Given the description of an element on the screen output the (x, y) to click on. 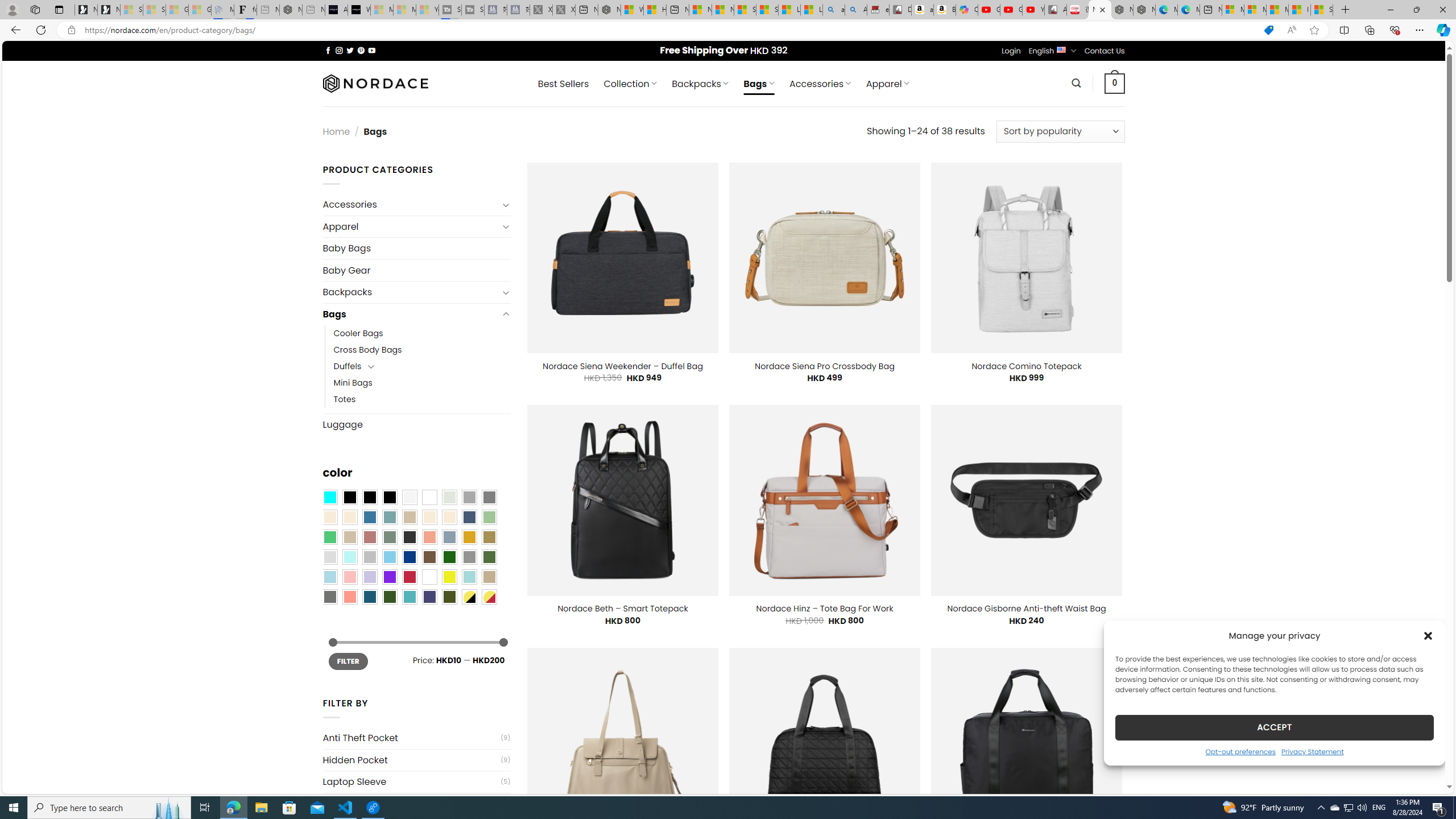
Opt-out preferences (1240, 750)
Blue (369, 517)
Microsoft Start - Sleeping (404, 9)
Mini Bags (352, 382)
Red (408, 577)
Aqua Blue (329, 497)
Baby Bags (416, 248)
